Given the description of an element on the screen output the (x, y) to click on. 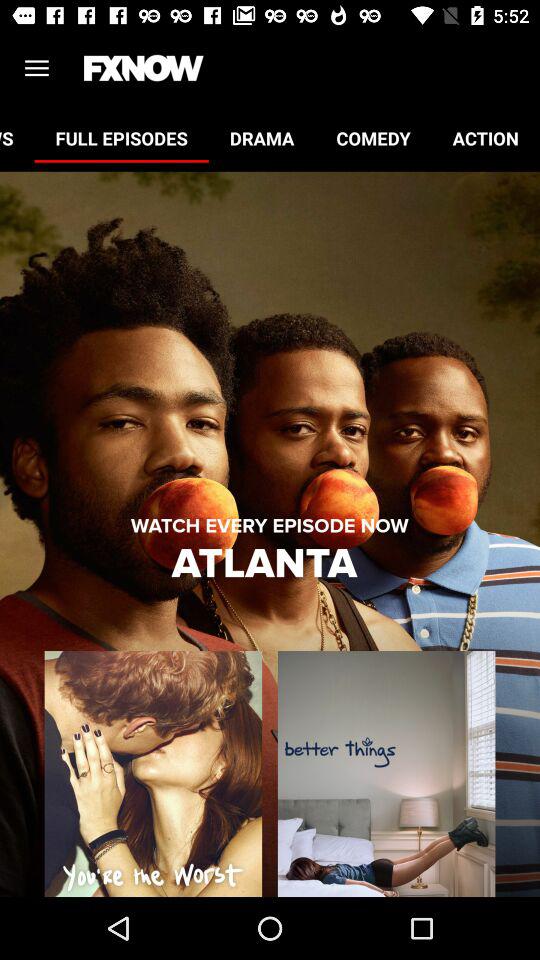
tap the icon next to full episodes item (17, 138)
